Given the description of an element on the screen output the (x, y) to click on. 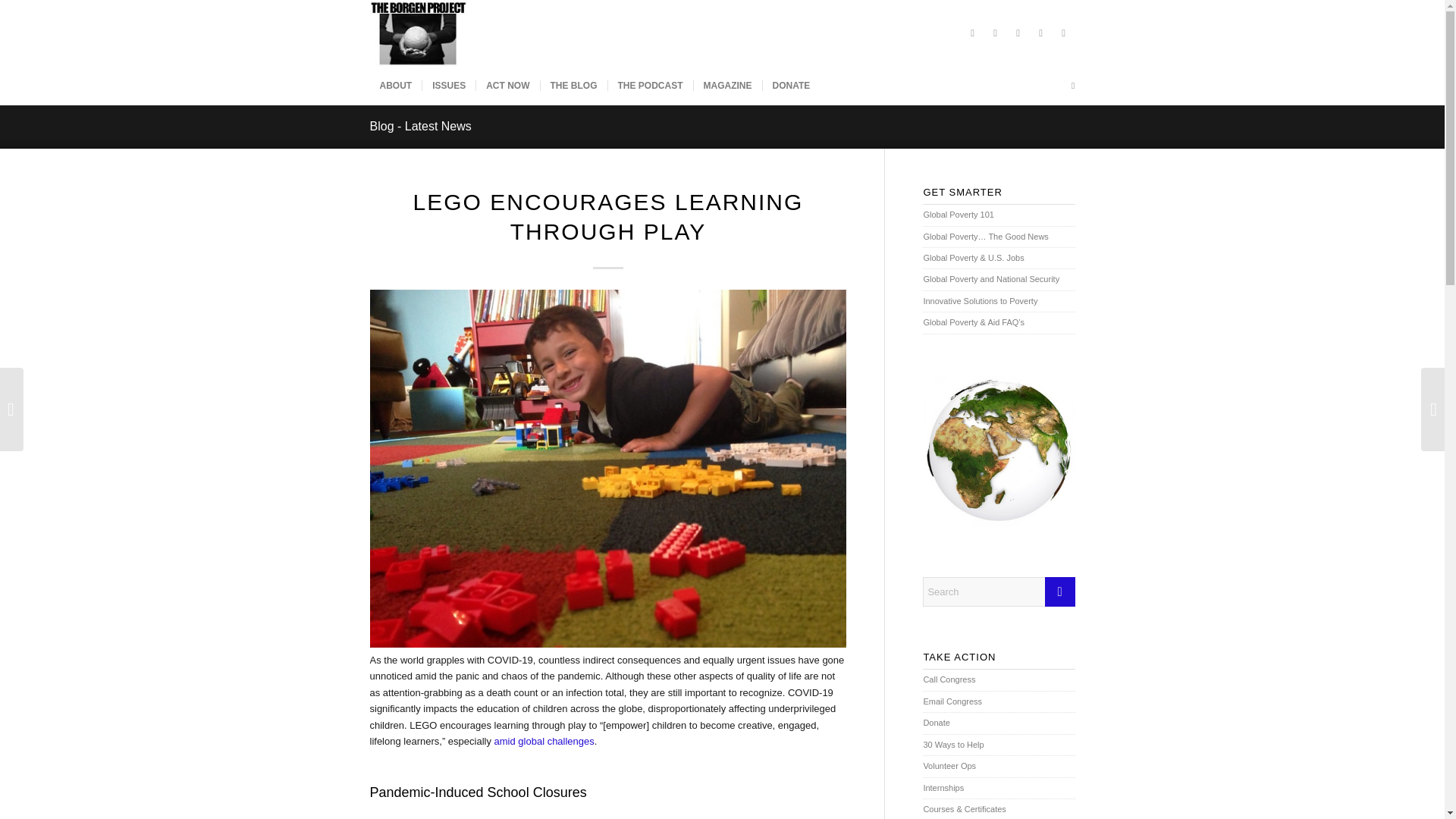
ACT NOW (507, 85)
ISSUES (449, 85)
TikTok (1040, 33)
ABOUT (395, 85)
Instagram (1018, 33)
Facebook (995, 33)
Youtube (1063, 33)
Permanent Link: Blog - Latest News (420, 125)
X (972, 33)
logo (418, 33)
